Given the description of an element on the screen output the (x, y) to click on. 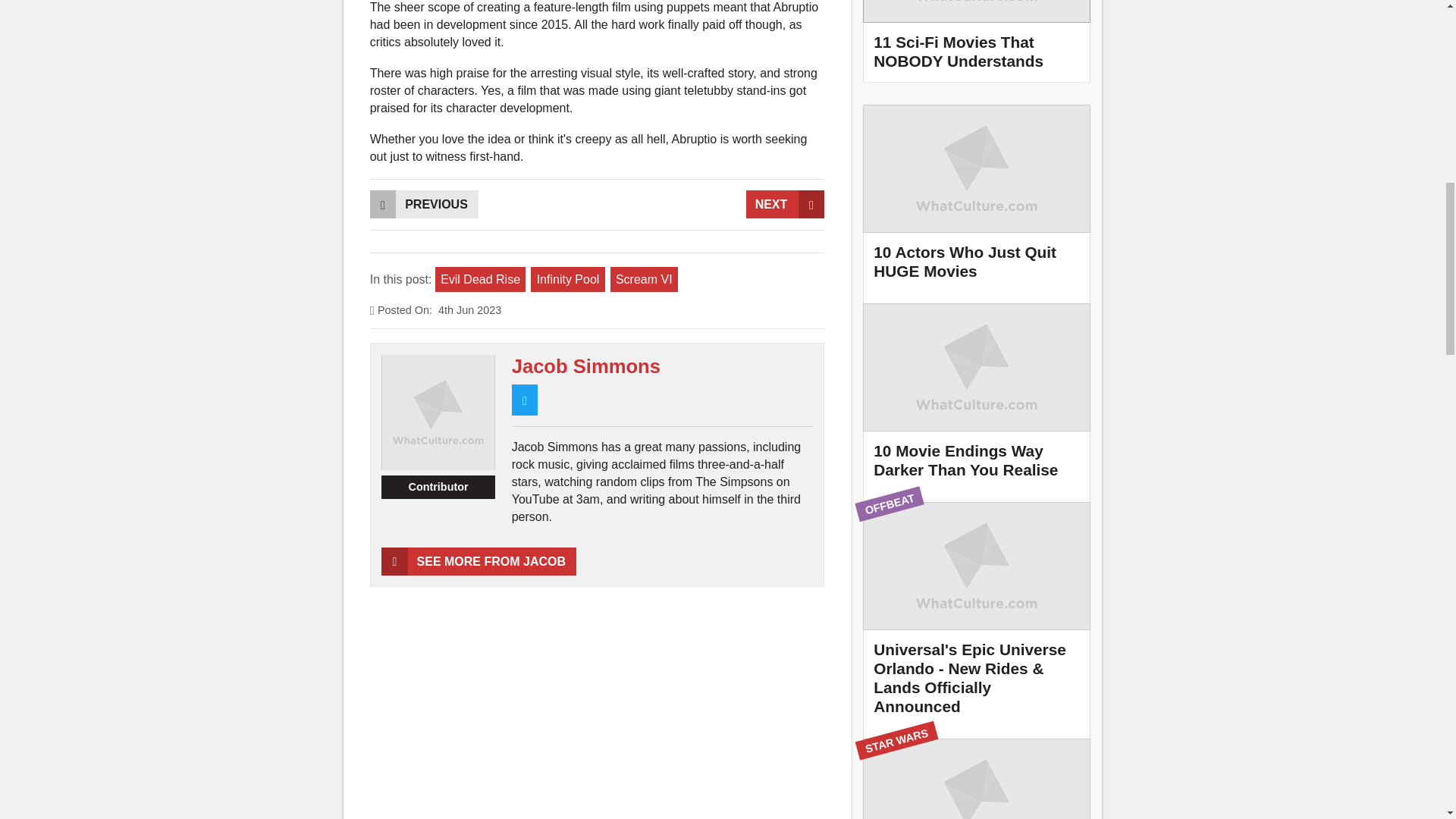
Featured Video (976, 41)
10 Huge Star Wars Moments That Happened In The Background (976, 778)
10 Movie Endings Way Darker Than You Realise (976, 397)
10 Actors Who Just Quit HUGE Movies (976, 198)
Contributor (438, 487)
